Given the description of an element on the screen output the (x, y) to click on. 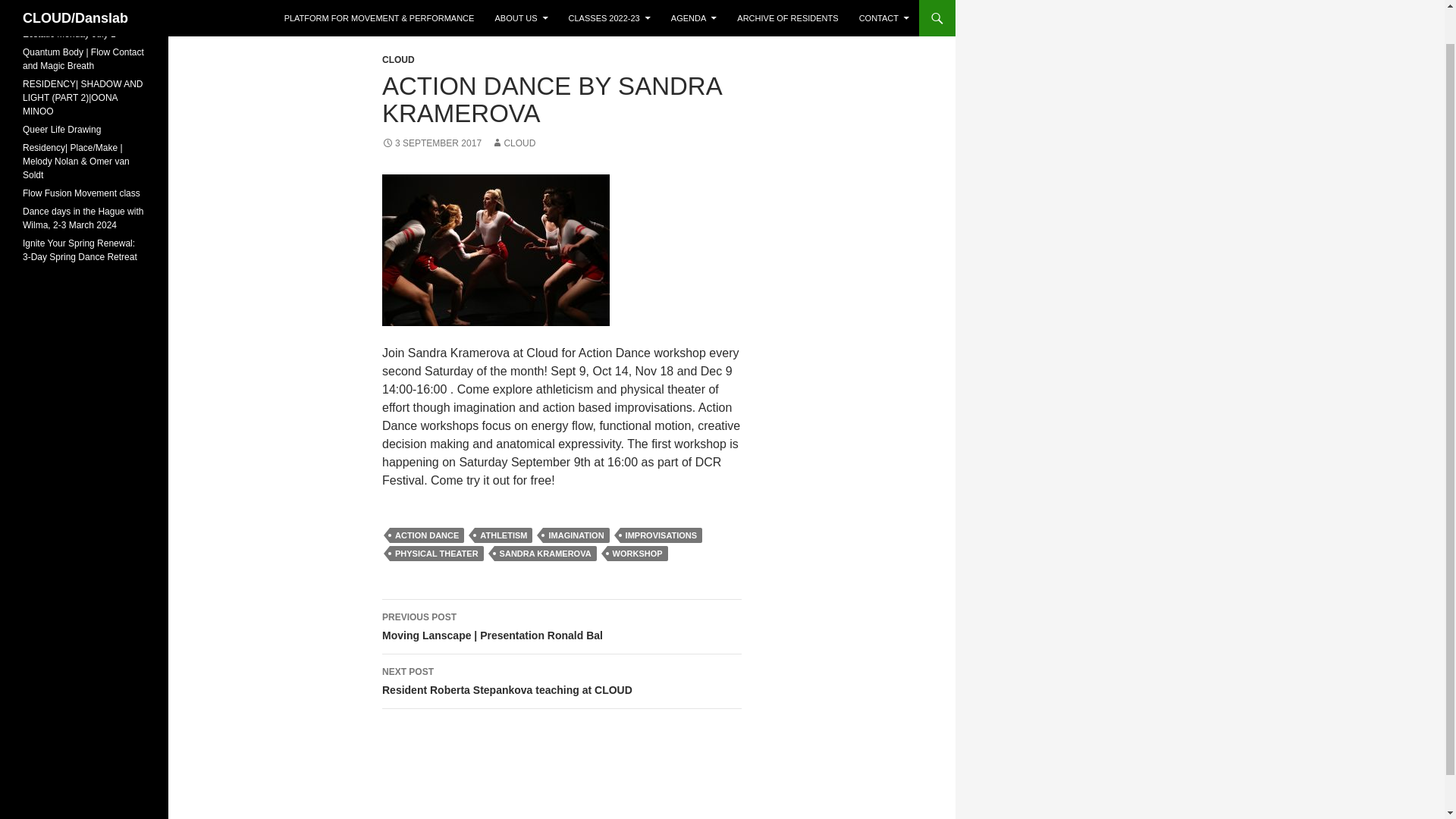
3 SEPTEMBER 2017 (431, 143)
ATHLETISM (503, 534)
CLOUD (513, 143)
ACTION DANCE (427, 534)
CLOUD (397, 59)
